Given the description of an element on the screen output the (x, y) to click on. 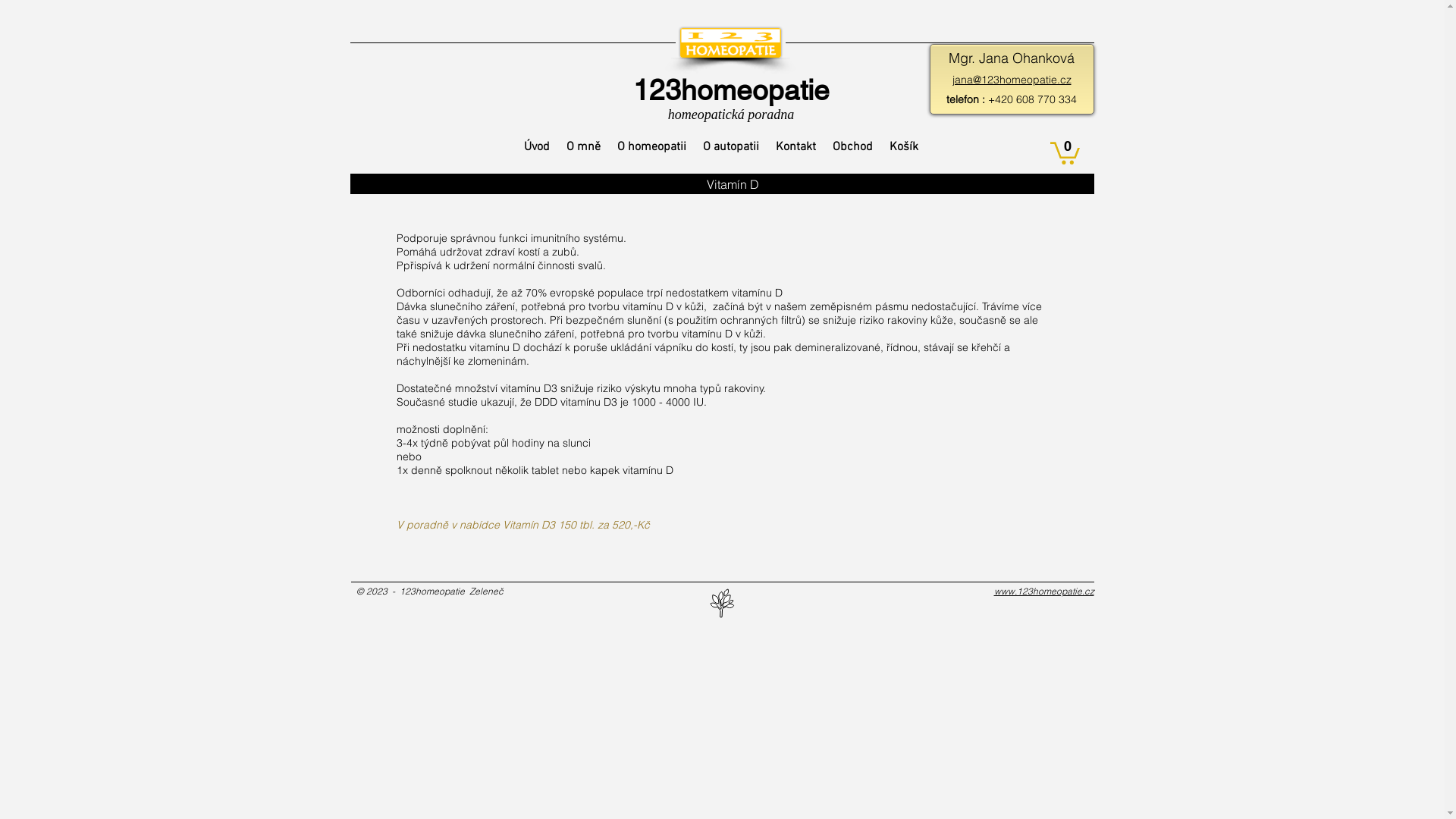
Kontakt Element type: text (795, 147)
www.123homeopatie.cz Element type: text (1043, 590)
O autopatii Element type: text (730, 147)
O homeopatii Element type: text (651, 147)
telefon : +420 608 770 334 Element type: text (1011, 99)
Obchod Element type: text (852, 147)
0 Element type: text (1064, 151)
jana@123homeopatie.cz Element type: text (1011, 79)
